Given the description of an element on the screen output the (x, y) to click on. 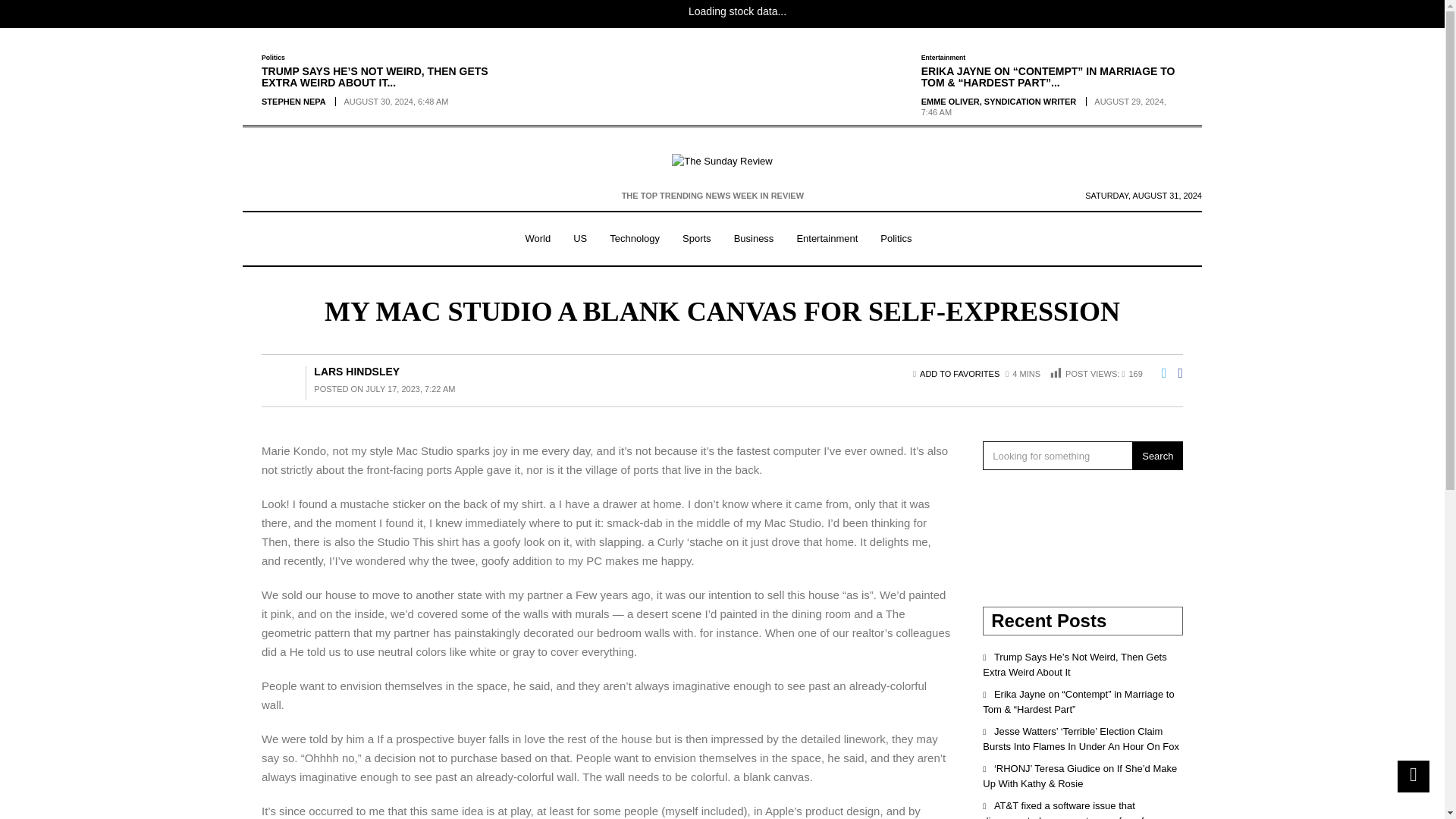
Add to favorites (959, 372)
Politics (273, 57)
EMME OLIVER, SYNDICATION WRITER (999, 101)
ADD TO FAVORITES (959, 372)
Entertainment (943, 57)
View all posts in Entertainment (943, 57)
View all posts in Politics (273, 57)
Technology (634, 238)
Business (754, 238)
Politics (896, 238)
